Given the description of an element on the screen output the (x, y) to click on. 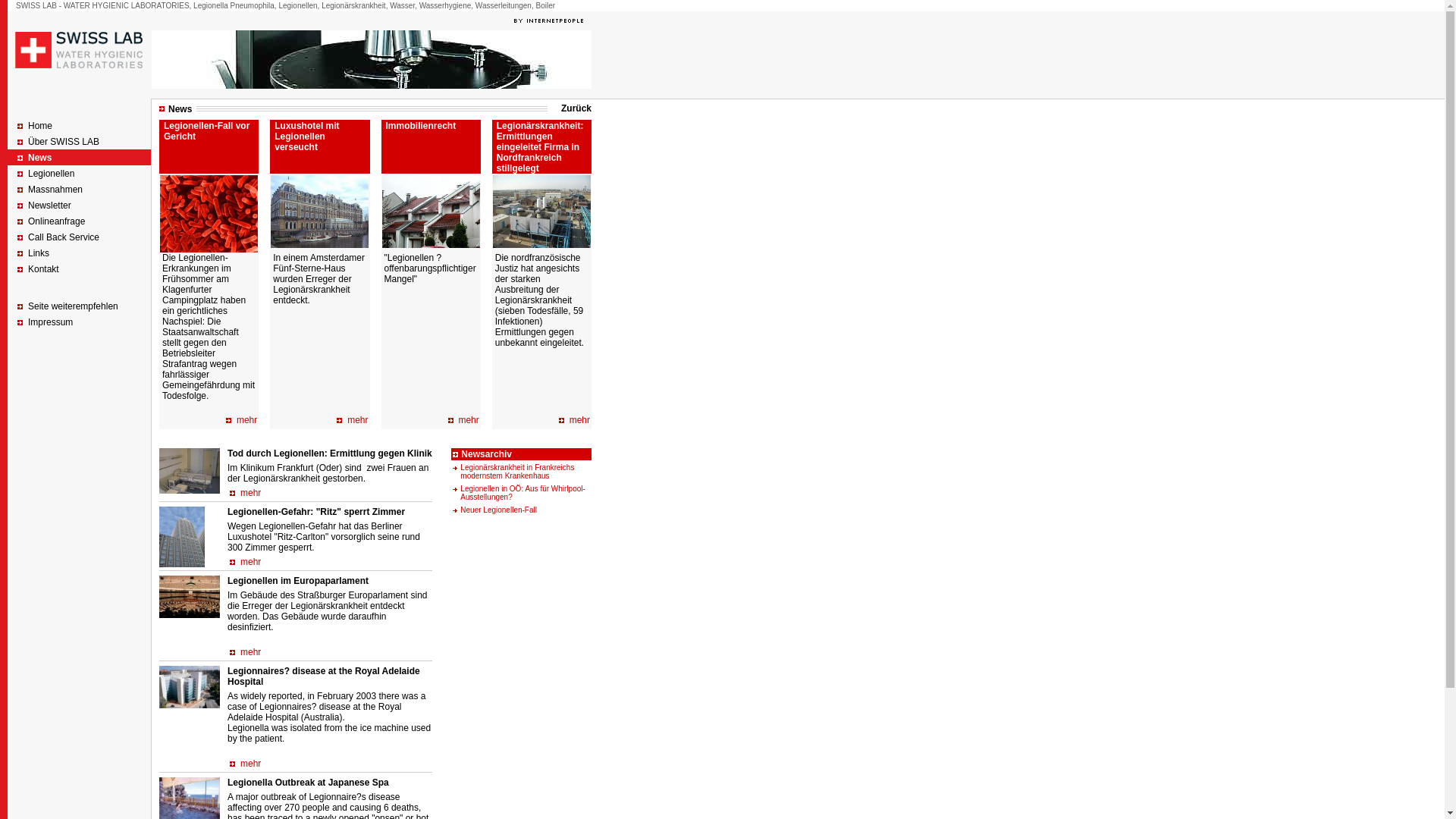
mehr Element type: text (250, 492)
mehr Element type: text (250, 561)
News Element type: text (39, 157)
mehr Element type: text (357, 419)
mehr Element type: text (579, 419)
Call Back Service Element type: text (63, 237)
Onlineanfrage Element type: text (56, 221)
Legionellen Element type: text (51, 173)
Neuer Legionellen-Fall Element type: text (498, 509)
Home Element type: text (40, 125)
Links Element type: text (38, 252)
Kontakt Element type: text (43, 268)
Newsletter Element type: text (49, 205)
mehr Element type: text (250, 763)
mehr Element type: text (250, 651)
Impressum Element type: text (50, 321)
Seite weiterempfehlen Element type: text (73, 306)
mehr Element type: text (468, 419)
Massnahmen Element type: text (55, 189)
mehr Element type: text (246, 419)
